Given the description of an element on the screen output the (x, y) to click on. 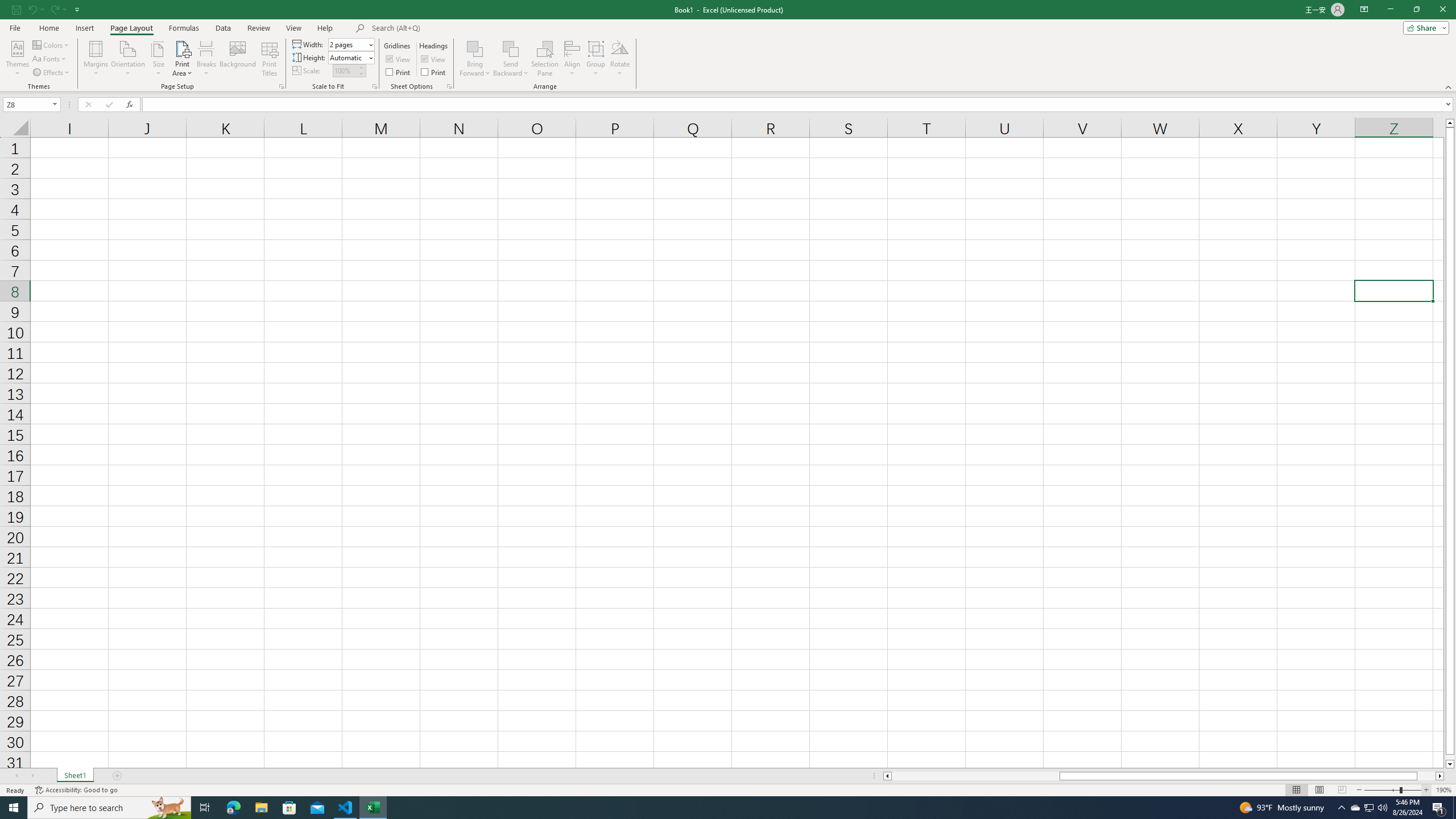
Formula Bar (798, 104)
Open (54, 104)
Width (350, 44)
Line down (1449, 764)
Page Layout (1318, 790)
Group (595, 58)
Customize Quick Access Toolbar (77, 9)
Ribbon Display Options (1364, 9)
Send Backward (510, 48)
Height (350, 56)
Selection Pane... (544, 58)
Page right (1425, 775)
Add Sheet (117, 775)
Send Backward (510, 58)
Height (347, 57)
